Given the description of an element on the screen output the (x, y) to click on. 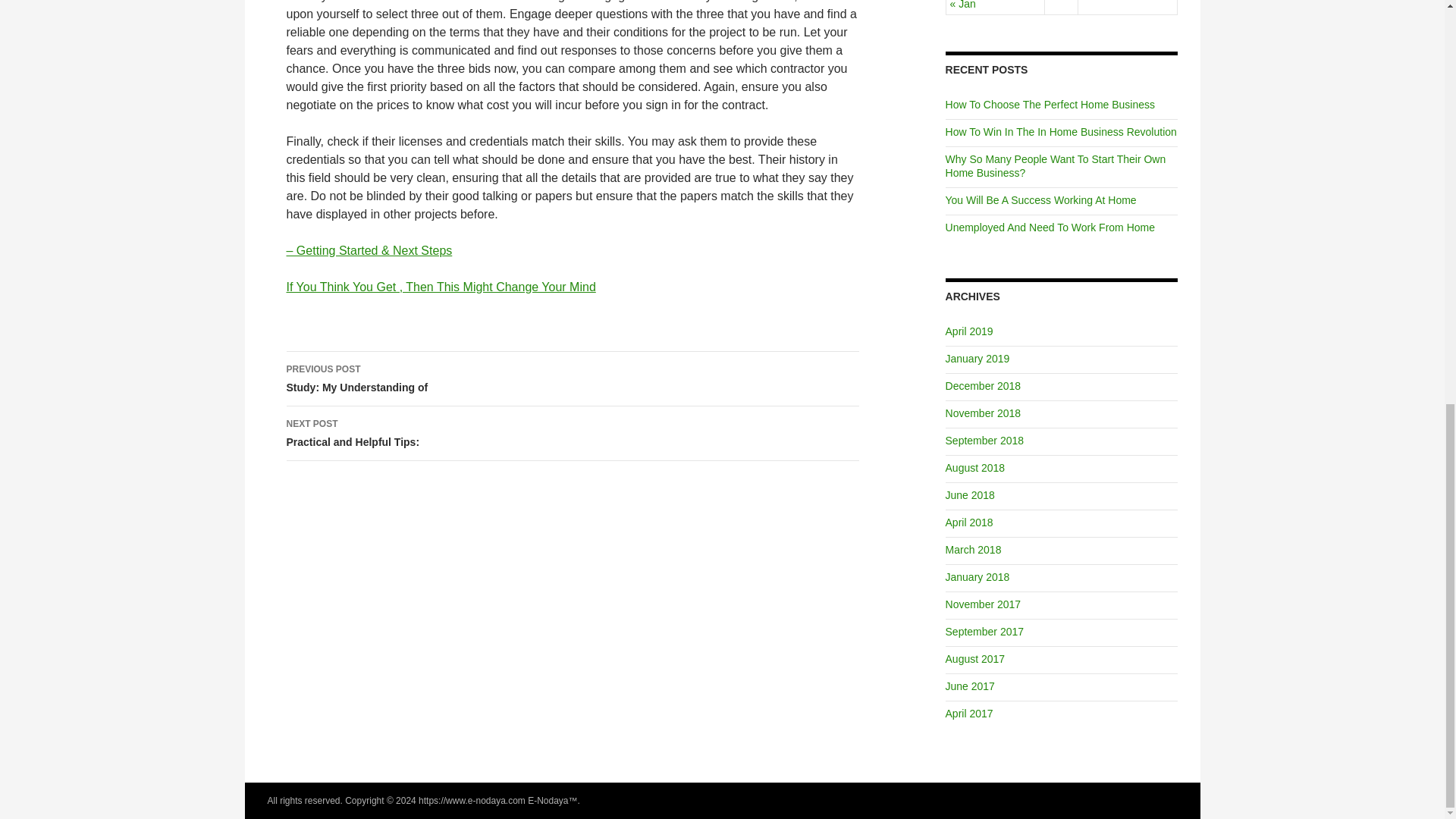
November 2018 (983, 413)
June 2018 (969, 494)
November 2017 (983, 604)
January 2018 (977, 576)
You Will Be A Success Working At Home (1040, 200)
March 2018 (972, 549)
Why So Many People Want To Start Their Own Home Business? (1055, 166)
Unemployed And Need To Work From Home (1050, 227)
If You Think You Get , Then This Might Change Your Mind (440, 286)
April 2019 (572, 379)
September 2018 (968, 331)
How To Win In The In Home Business Revolution (984, 440)
August 2018 (1060, 132)
How To Choose The Perfect Home Business (975, 467)
